Given the description of an element on the screen output the (x, y) to click on. 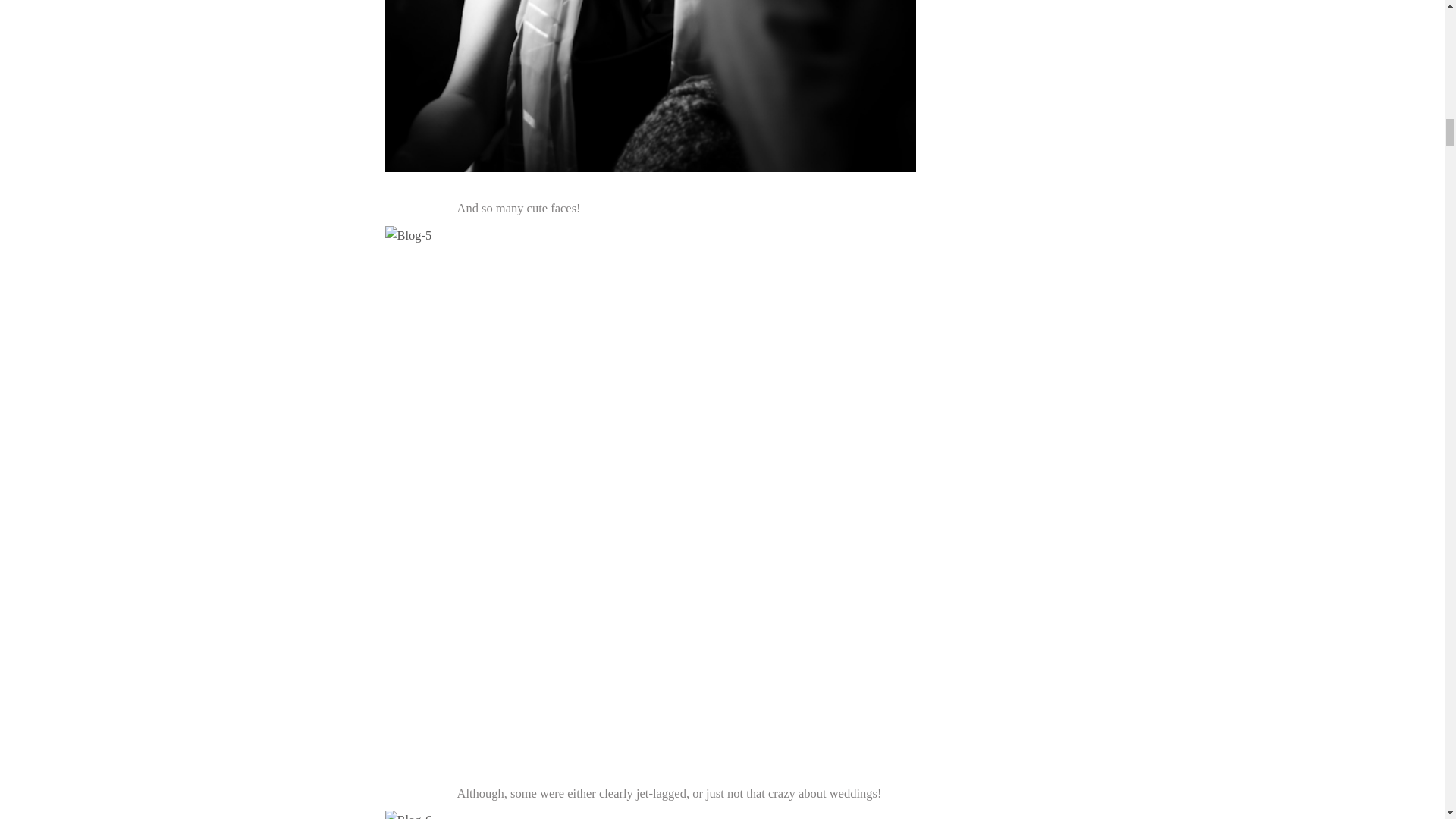
Blog-6 (650, 814)
Blog-4 (650, 85)
